Given the description of an element on the screen output the (x, y) to click on. 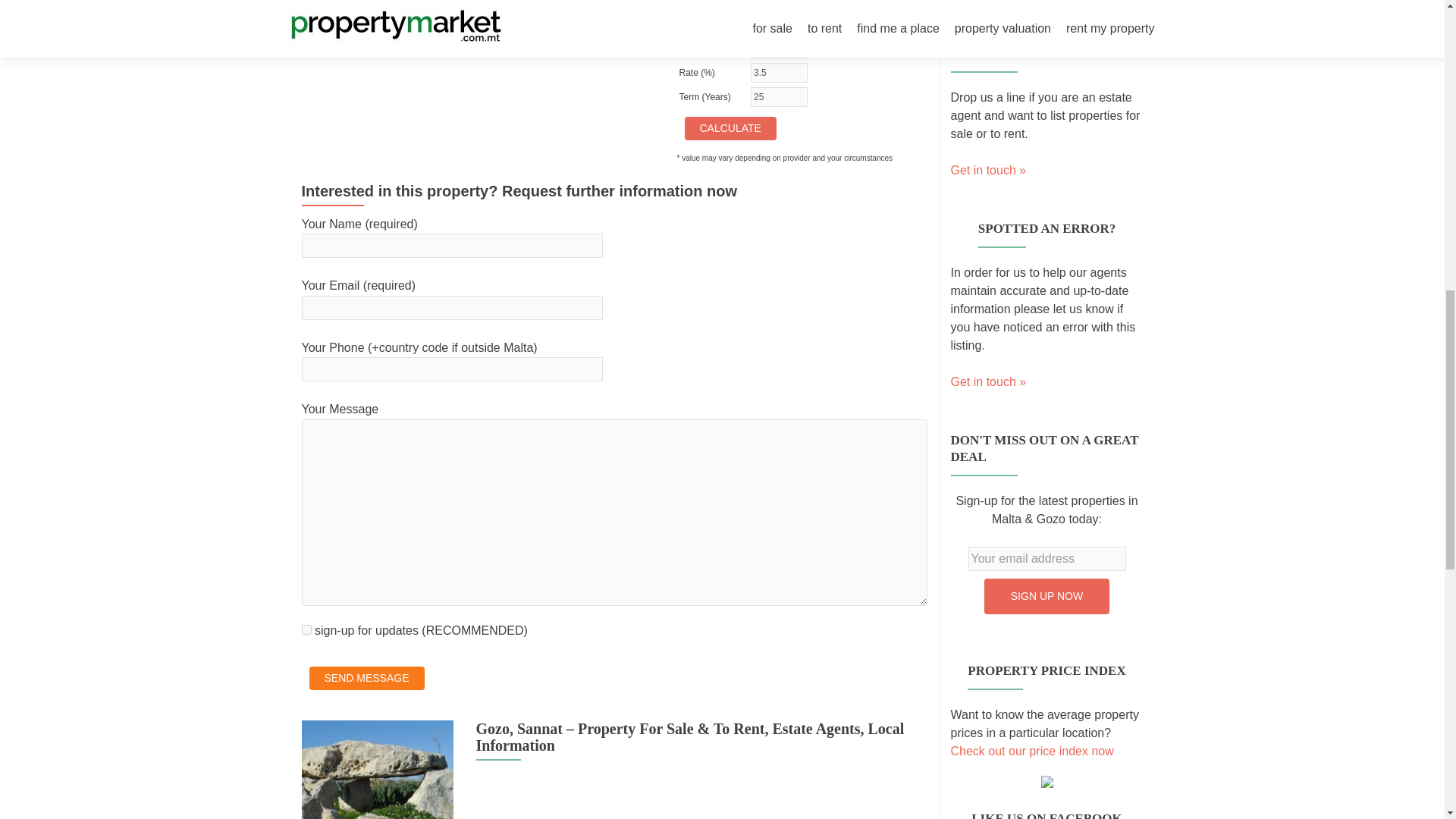
View Malta's Property Price Index (1031, 750)
Sign Up Now (1046, 596)
25 (779, 96)
Send Message (366, 678)
171450 (779, 48)
3.5 (779, 72)
View Malta's Property Price Index (1046, 772)
1 (306, 629)
Sign Up Now (1046, 596)
Send Message (366, 678)
Calculate (730, 128)
Check out our price index now (1031, 750)
Calculate (730, 128)
